Given the description of an element on the screen output the (x, y) to click on. 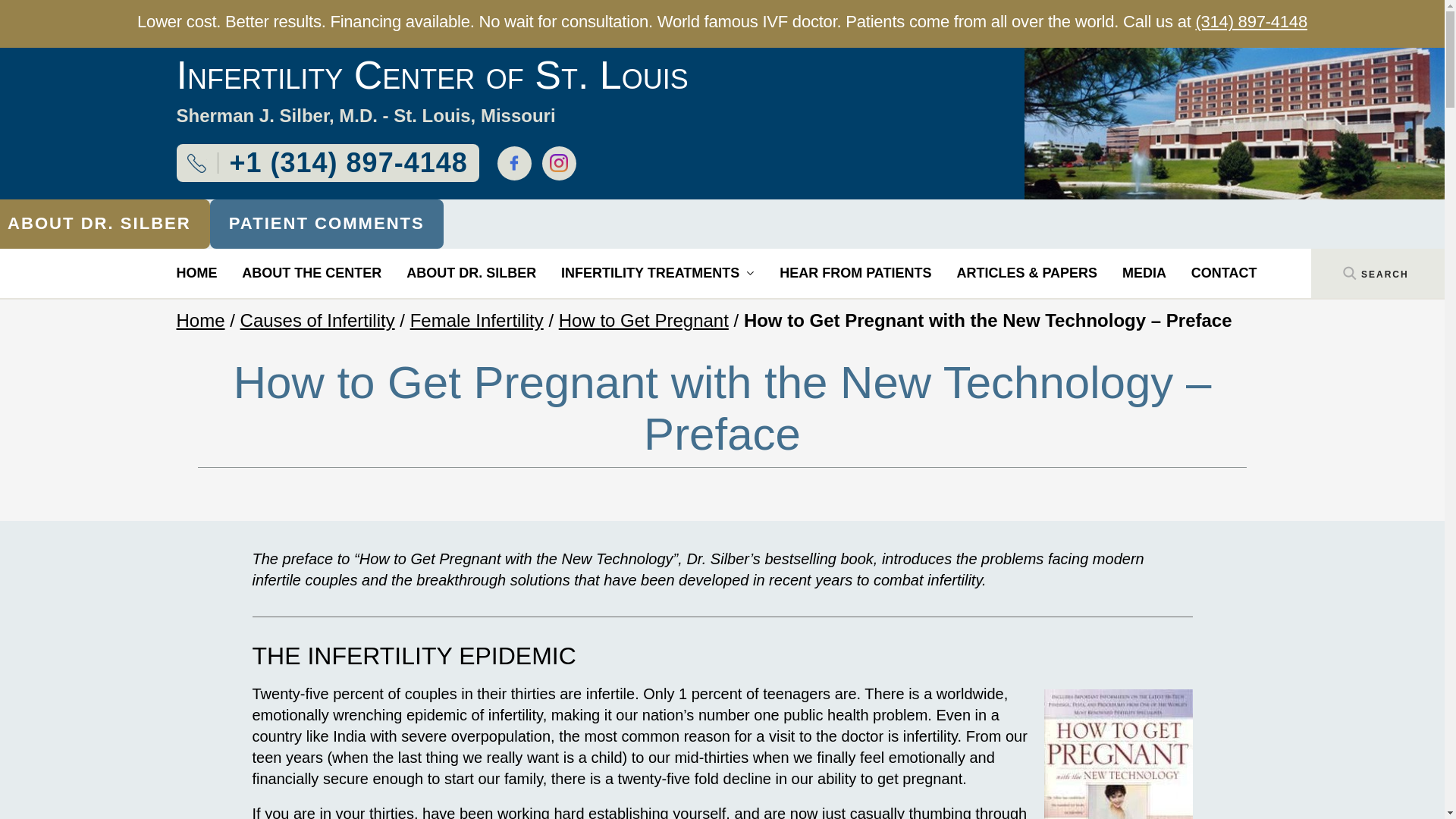
PATIENT COMMENTS (326, 223)
ABOUT DR. SILBER (104, 223)
ABOUT DR. SILBER (470, 273)
INFERTILITY TREATMENTS (657, 273)
ABOUT THE CENTER (311, 273)
